Given the description of an element on the screen output the (x, y) to click on. 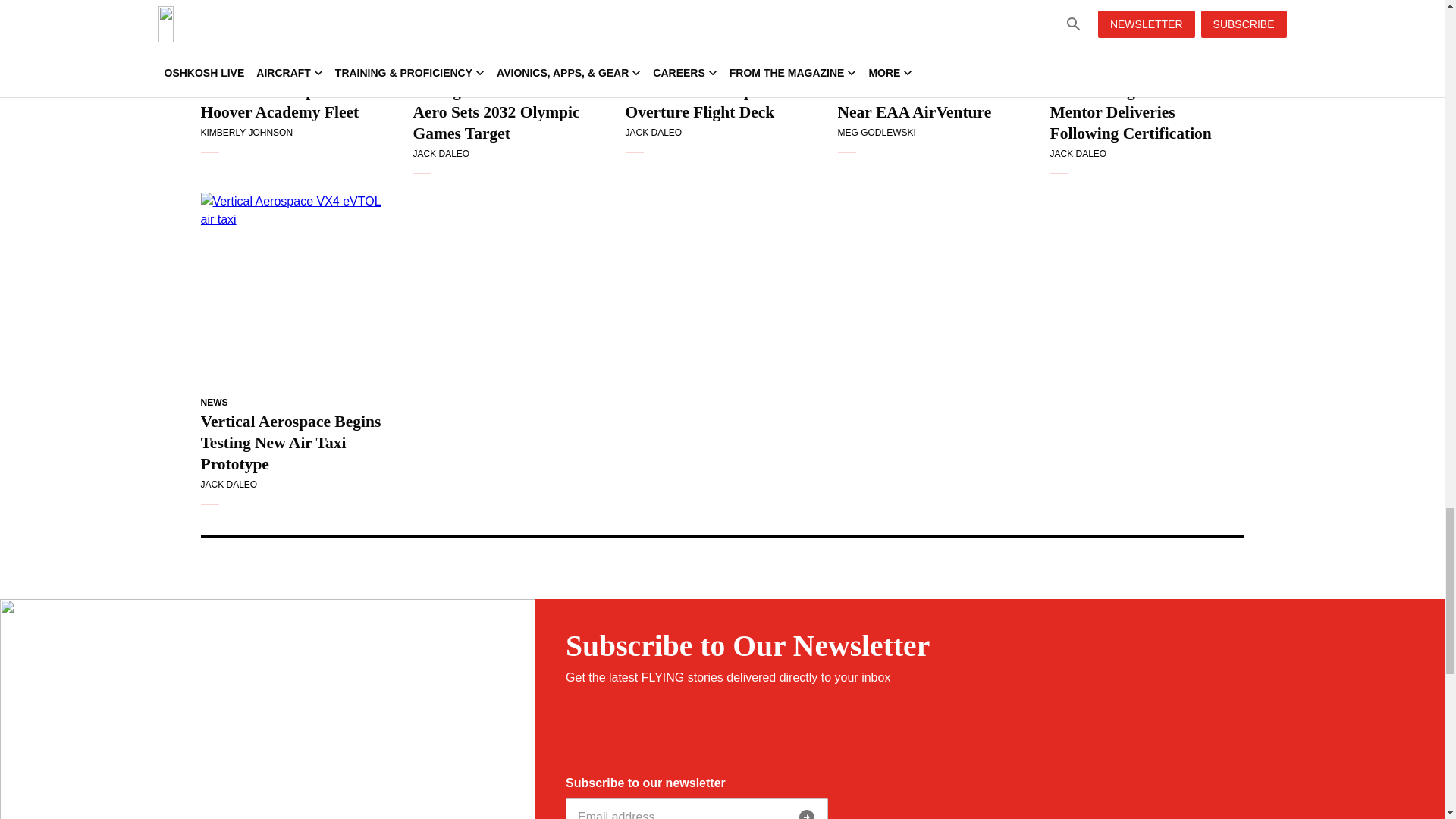
Boeing Air Taxi Arm Wisk Aero Sets 2032 Olympic Games Target (509, 28)
Submit (807, 810)
Boom Unveils Supersonic Overture Flight Deck (721, 28)
Donation to Expand Bob Hoover Academy Fleet (297, 28)
2 Killed in Plane Crash Near EAA AirVenture (933, 28)
Vertical Aerospace Begins Testing New Air Taxi Prototype (297, 289)
